Given the description of an element on the screen output the (x, y) to click on. 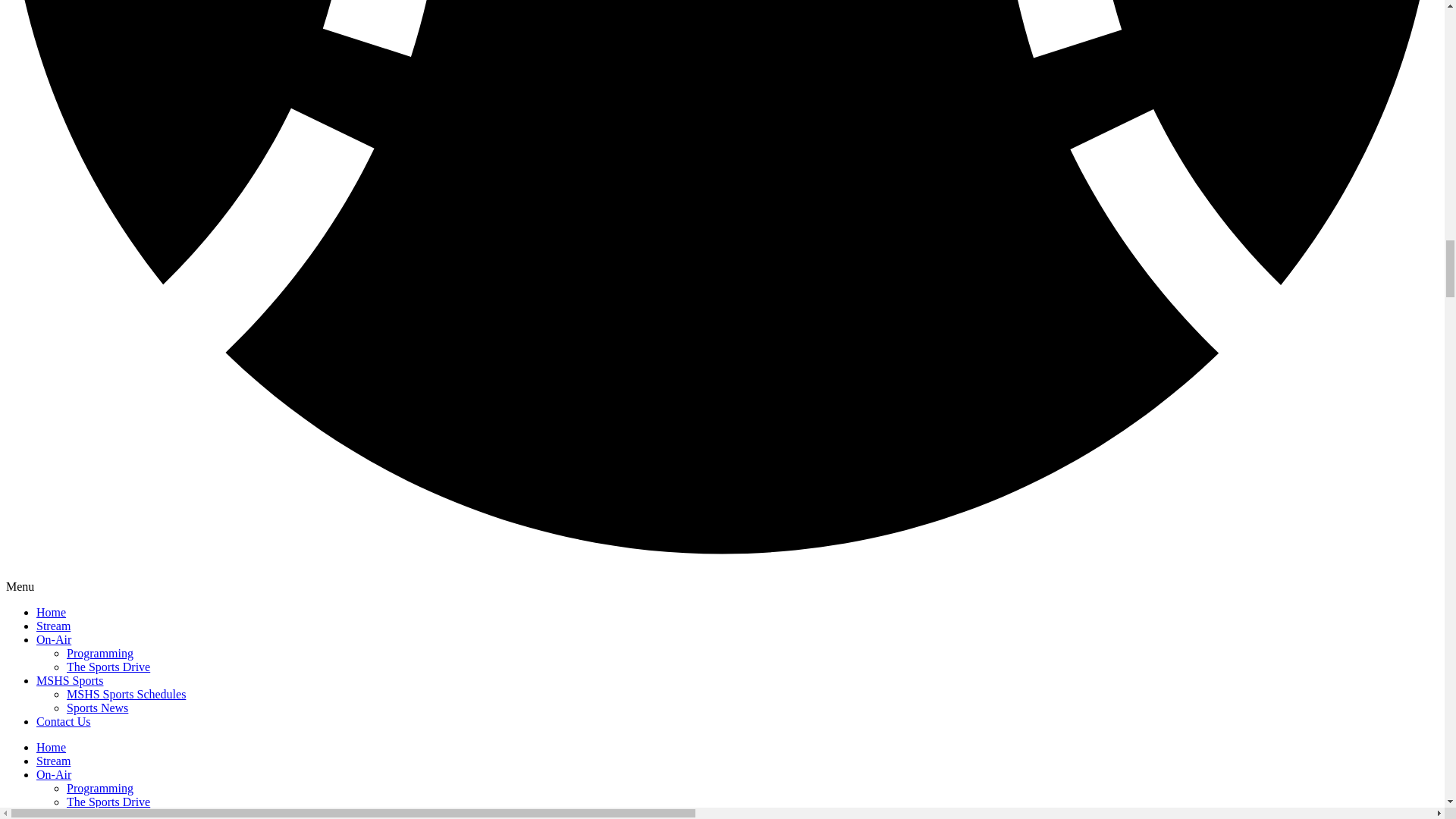
Programming (99, 653)
Home (50, 747)
On-Air (53, 774)
MSHS Sports Schedules (126, 694)
On-Air (53, 639)
Programming (99, 788)
MSHS Sports (69, 680)
Home (50, 612)
The Sports Drive (107, 666)
Contact Us (63, 721)
Sports News (97, 707)
The Sports Drive (107, 801)
MSHS Sports (69, 814)
Stream (52, 625)
Stream (52, 760)
